Given the description of an element on the screen output the (x, y) to click on. 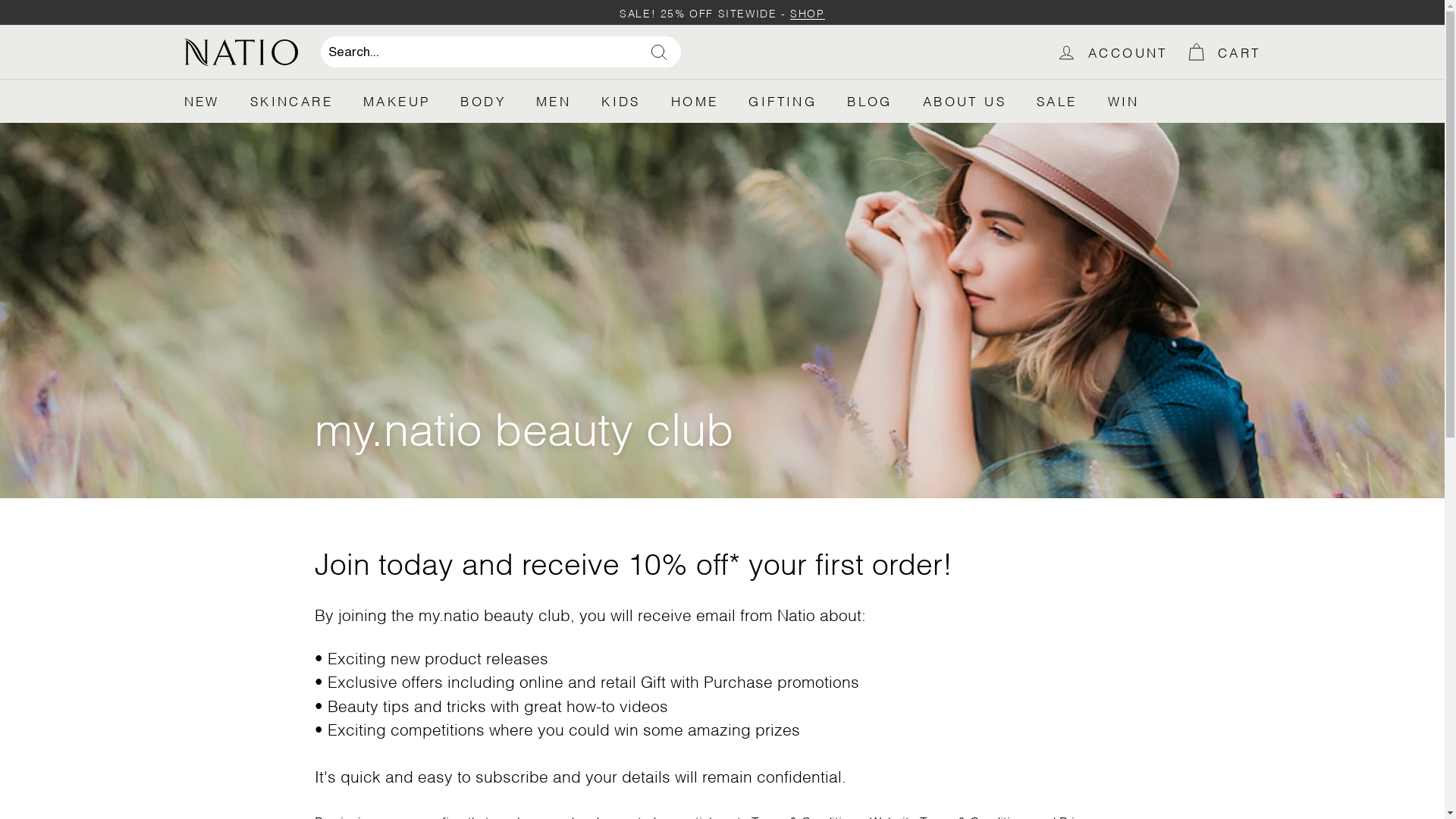
SHOP Element type: text (803, 12)
SALE Element type: text (1056, 100)
SKINCARE Element type: text (291, 100)
GIFTING Element type: text (782, 100)
NEW Element type: text (201, 100)
MEN Element type: text (553, 100)
KIDS Element type: text (620, 100)
WIN Element type: text (1123, 100)
ACCOUNT Element type: text (1111, 51)
Skip to content Element type: text (0, 0)
MAKEUP Element type: text (396, 100)
HOME Element type: text (694, 100)
ABOUT US Element type: text (964, 100)
BLOG Element type: text (869, 100)
BODY Element type: text (482, 100)
